Given the description of an element on the screen output the (x, y) to click on. 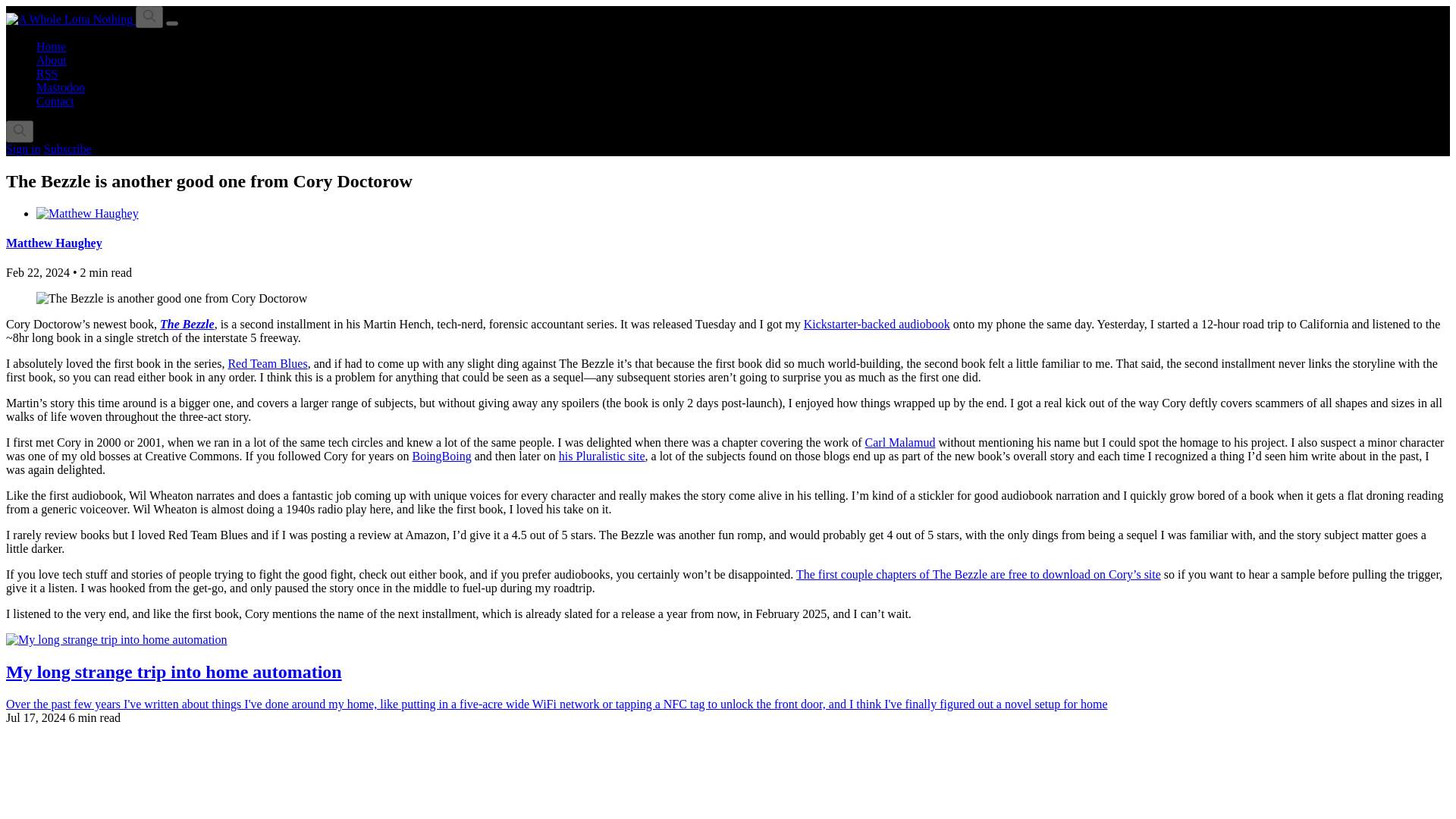
RSS (47, 73)
Contact (55, 101)
Carl Malamud (900, 441)
Kickstarter-backed audiobook (876, 323)
The Bezzle (187, 323)
Matthew Haughey (53, 242)
Sign in (22, 148)
Red Team Blues (267, 363)
BoingBoing (441, 455)
Subscribe (67, 148)
his Pluralistic site (602, 455)
Mastodon (60, 87)
Home (50, 46)
About (51, 60)
